Given the description of an element on the screen output the (x, y) to click on. 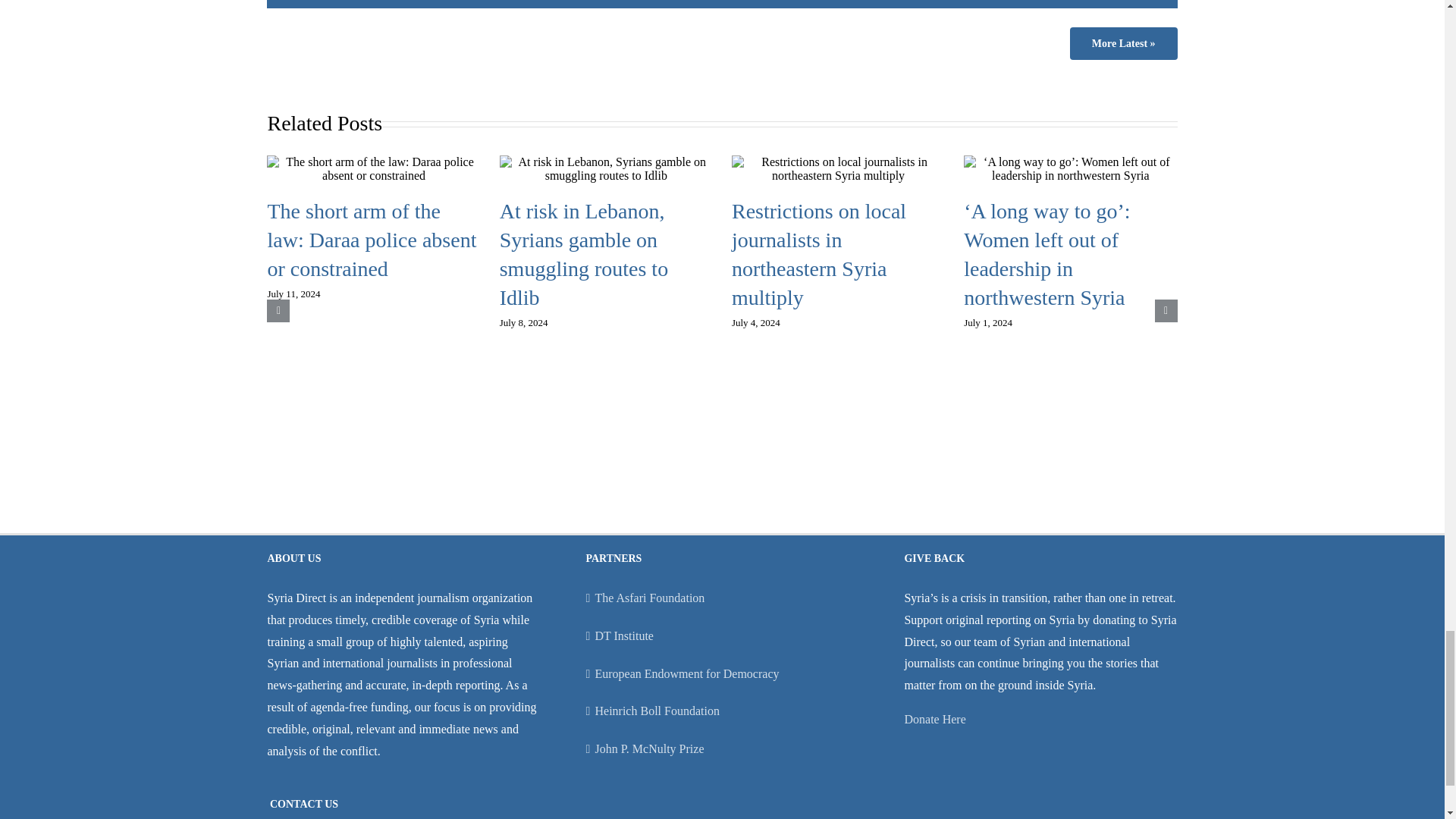
The short arm of the law: Daraa police absent or constrained (371, 239)
